Given the description of an element on the screen output the (x, y) to click on. 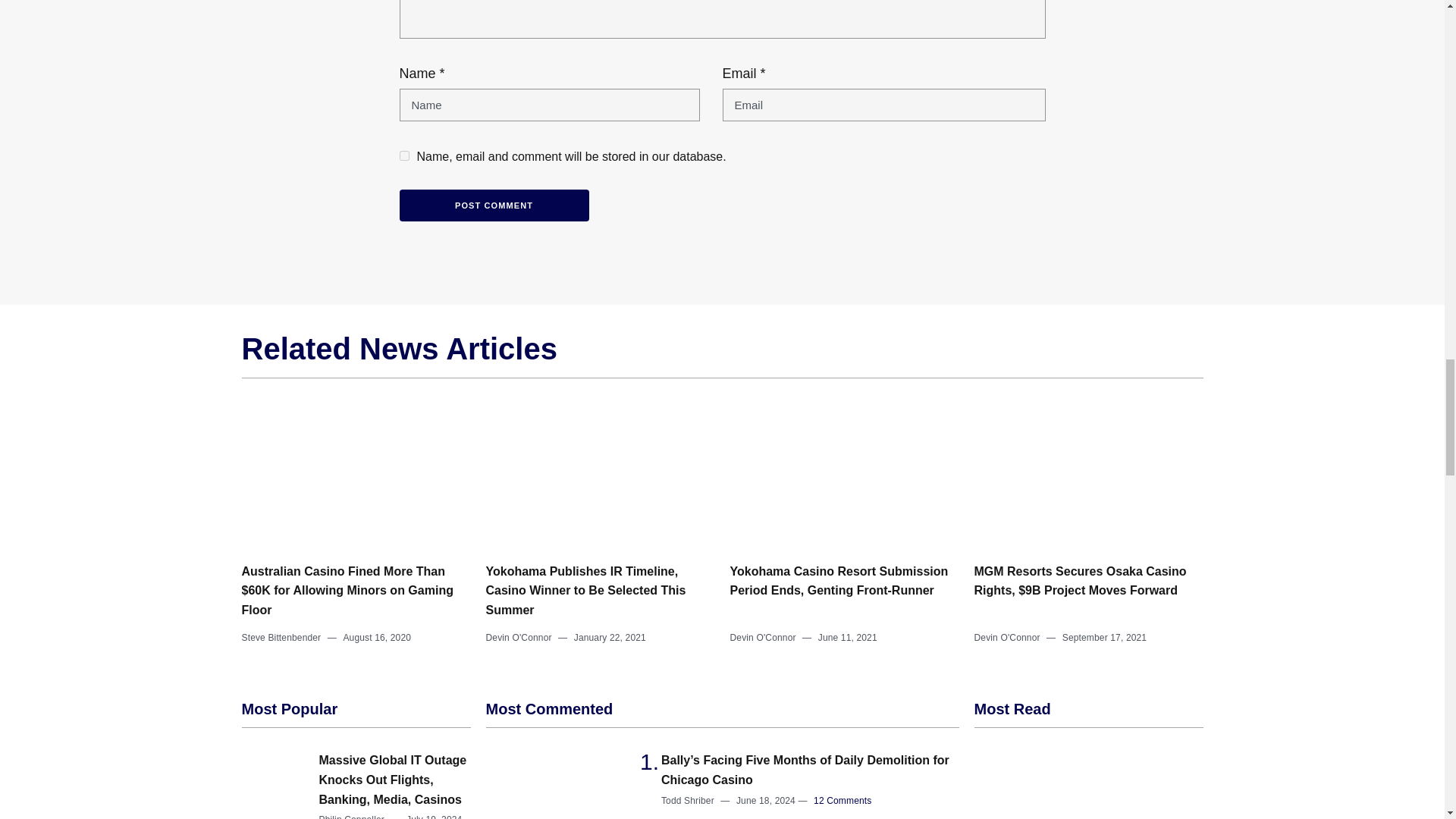
yes (403, 155)
Post Comment (493, 205)
